Given the description of an element on the screen output the (x, y) to click on. 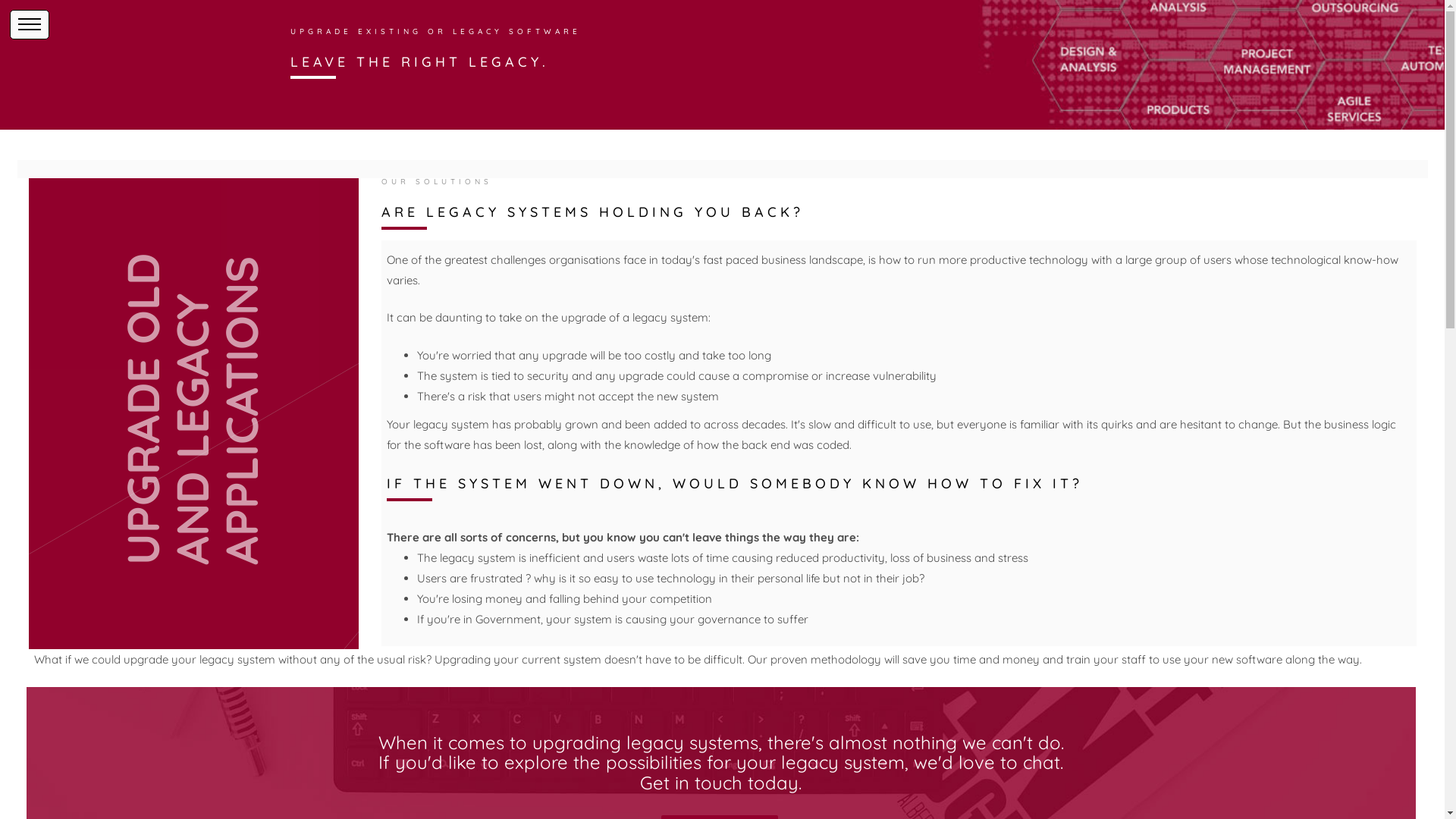
NEWS Element type: text (144, 372)
Search Category Element type: hover (144, 103)
OUR WORK Element type: text (144, 347)
CONTACT US Element type: text (143, 397)
HOME Element type: text (144, 143)
ABOUT US Element type: text (143, 168)
CYBER SECURITY Element type: text (144, 219)
AUDIT AND ASSESSMENT Element type: text (143, 245)
SOFTWARE DEVELOPMENT Element type: text (144, 194)
MAV ICT PANEL 2021 Element type: text (144, 296)
DYNAMICS 365 BUSINESS CENTRAL Element type: text (144, 270)
LICENSING Element type: text (144, 322)
